Given the description of an element on the screen output the (x, y) to click on. 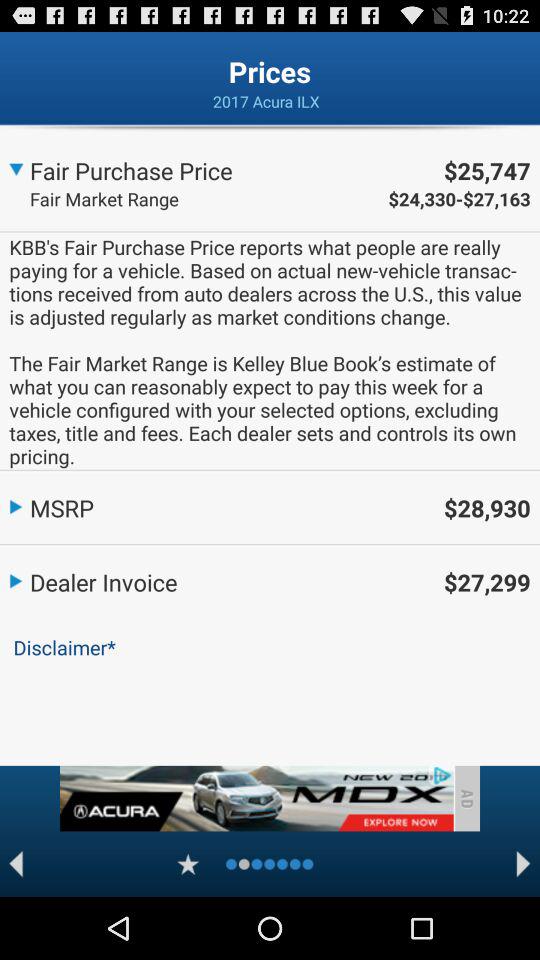
favorite (188, 864)
